Given the description of an element on the screen output the (x, y) to click on. 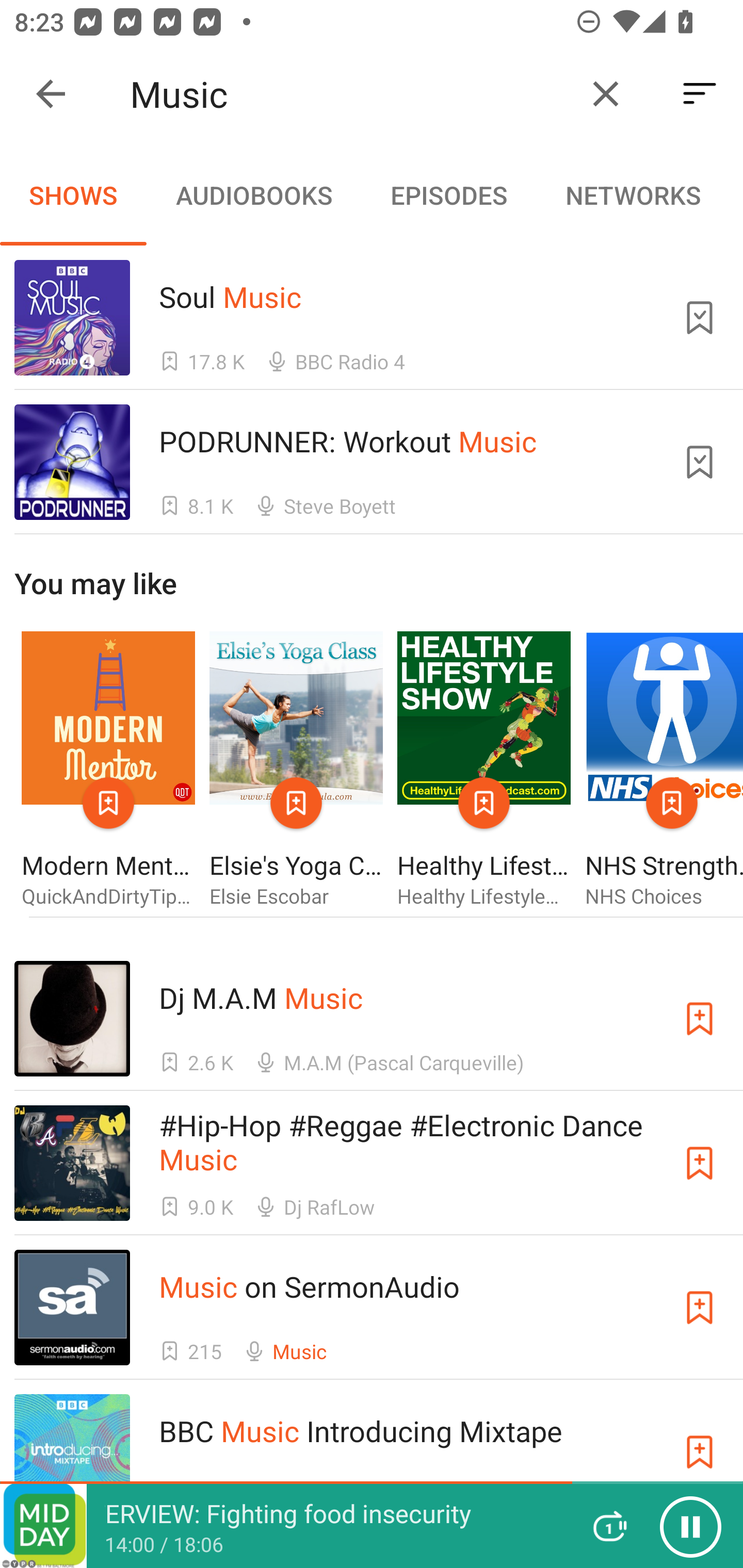
Collapse (50, 93)
Clear query (605, 93)
Sort By (699, 93)
Music (349, 94)
SHOWS (73, 195)
AUDIOBOOKS (253, 195)
EPISODES (448, 195)
NETWORKS (632, 195)
Unsubscribe (699, 317)
Unsubscribe (699, 462)
Modern Mentor QuickAndDirtyTips.com (107, 770)
Elsie's Yoga Class Elsie Escobar (295, 770)
Healthy Lifestyle Show Healthy Lifestyle Academy (483, 770)
NHS Strength and Flexibility NHS Choices (664, 770)
Subscribe (699, 1019)
Subscribe (699, 1163)
Subscribe (699, 1307)
Subscribe (699, 1451)
Pause (690, 1526)
